Given the description of an element on the screen output the (x, y) to click on. 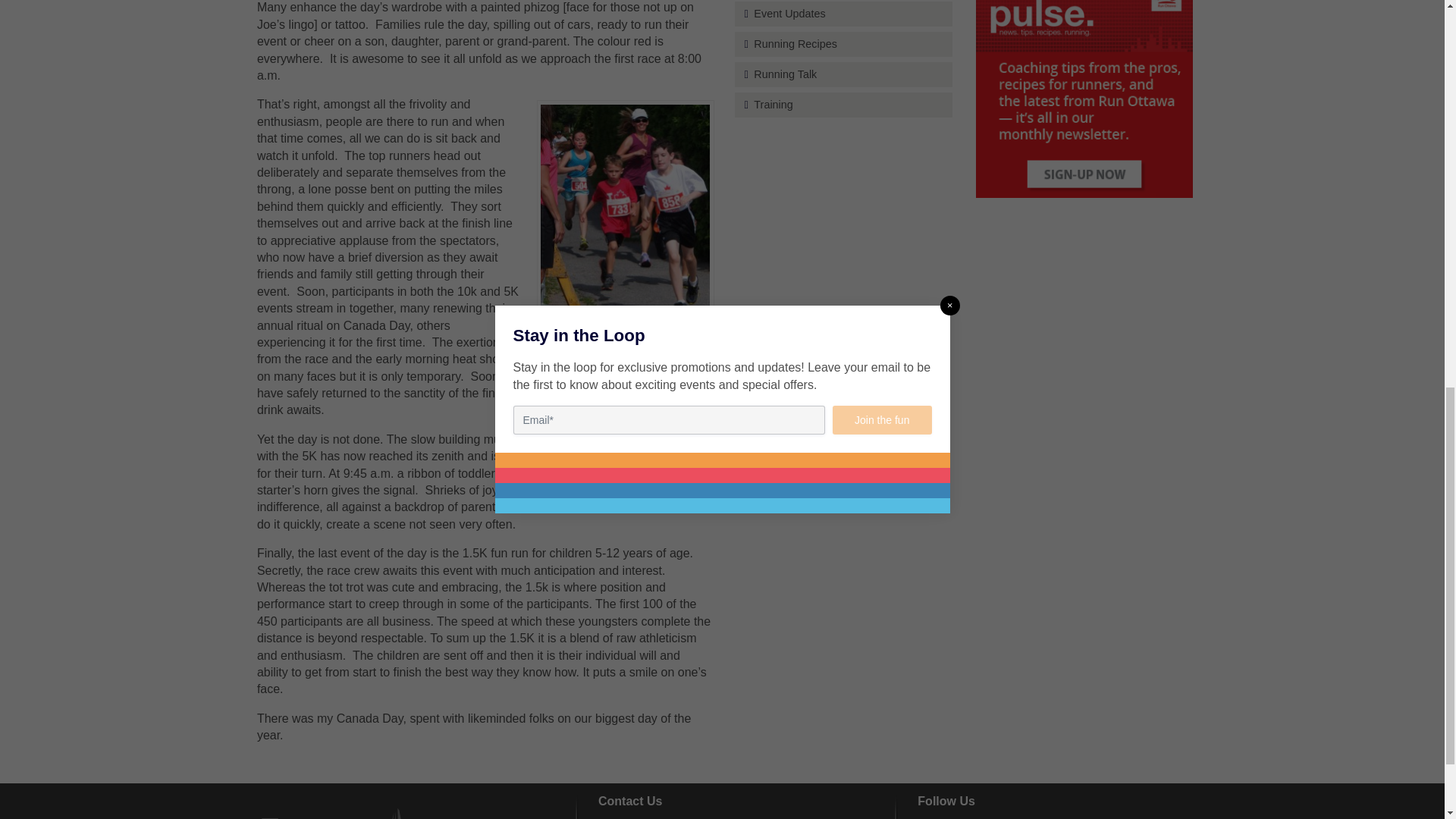
Sign-up for the Pulse (1083, 99)
